Given the description of an element on the screen output the (x, y) to click on. 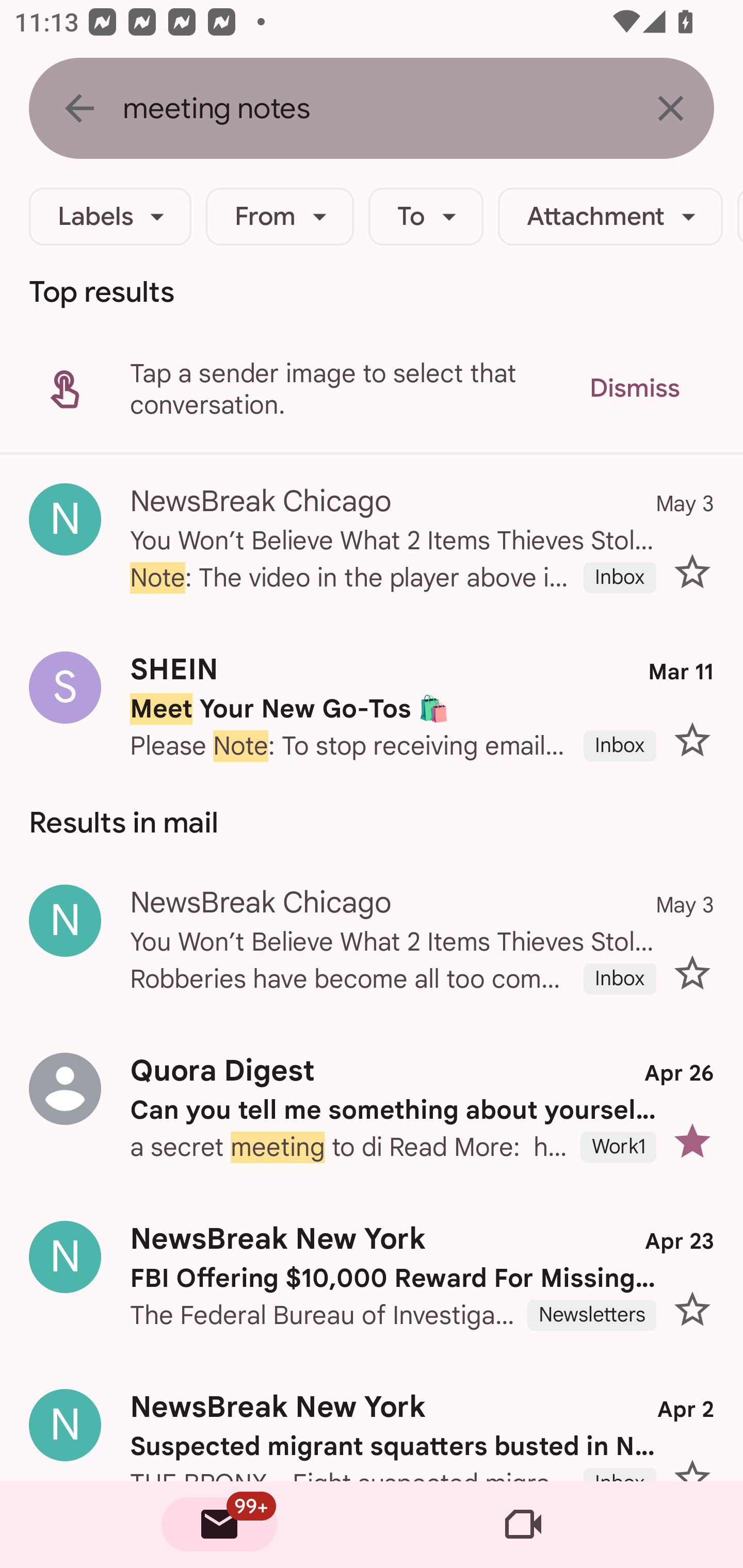
Navigate up (79, 108)
Clear search text (670, 108)
Labels (109, 217)
From (279, 217)
To (425, 217)
Attachment (609, 217)
Dismiss Dismiss tip (634, 387)
Meet (523, 1524)
